Given the description of an element on the screen output the (x, y) to click on. 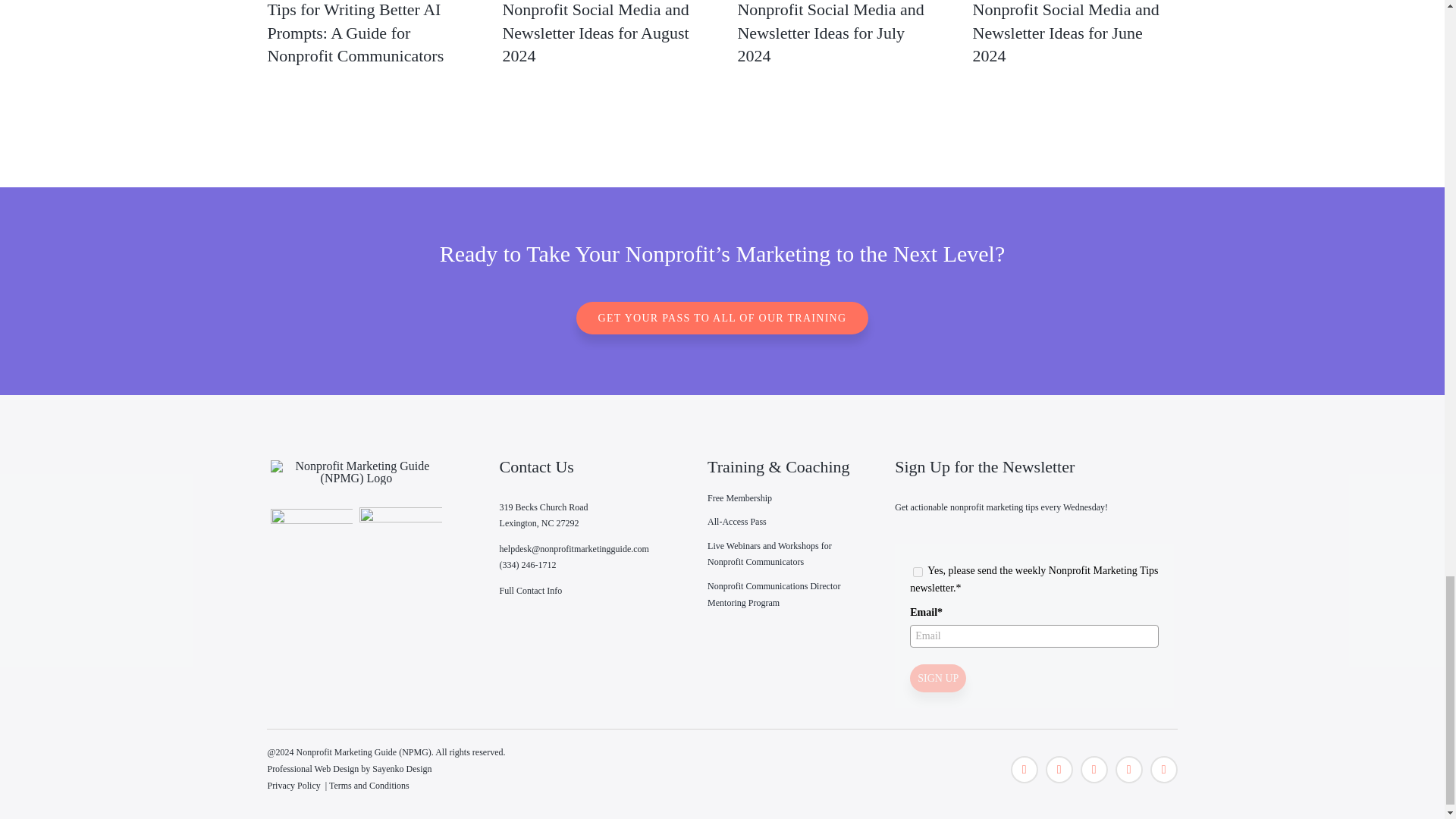
Nonprofit Social Media and Newsletter Ideas for July 2024 (829, 33)
Nonprofit Social Media and Newsletter Ideas for August 2024 (595, 33)
Nonprofit Social Media and Newsletter Ideas for June 2024 (1065, 33)
YouTube (1128, 768)
X (1024, 768)
LinkedIn (1163, 768)
Nonprofit Marketing Guide NPMG logo (356, 472)
Pinterest (1094, 768)
